Given the description of an element on the screen output the (x, y) to click on. 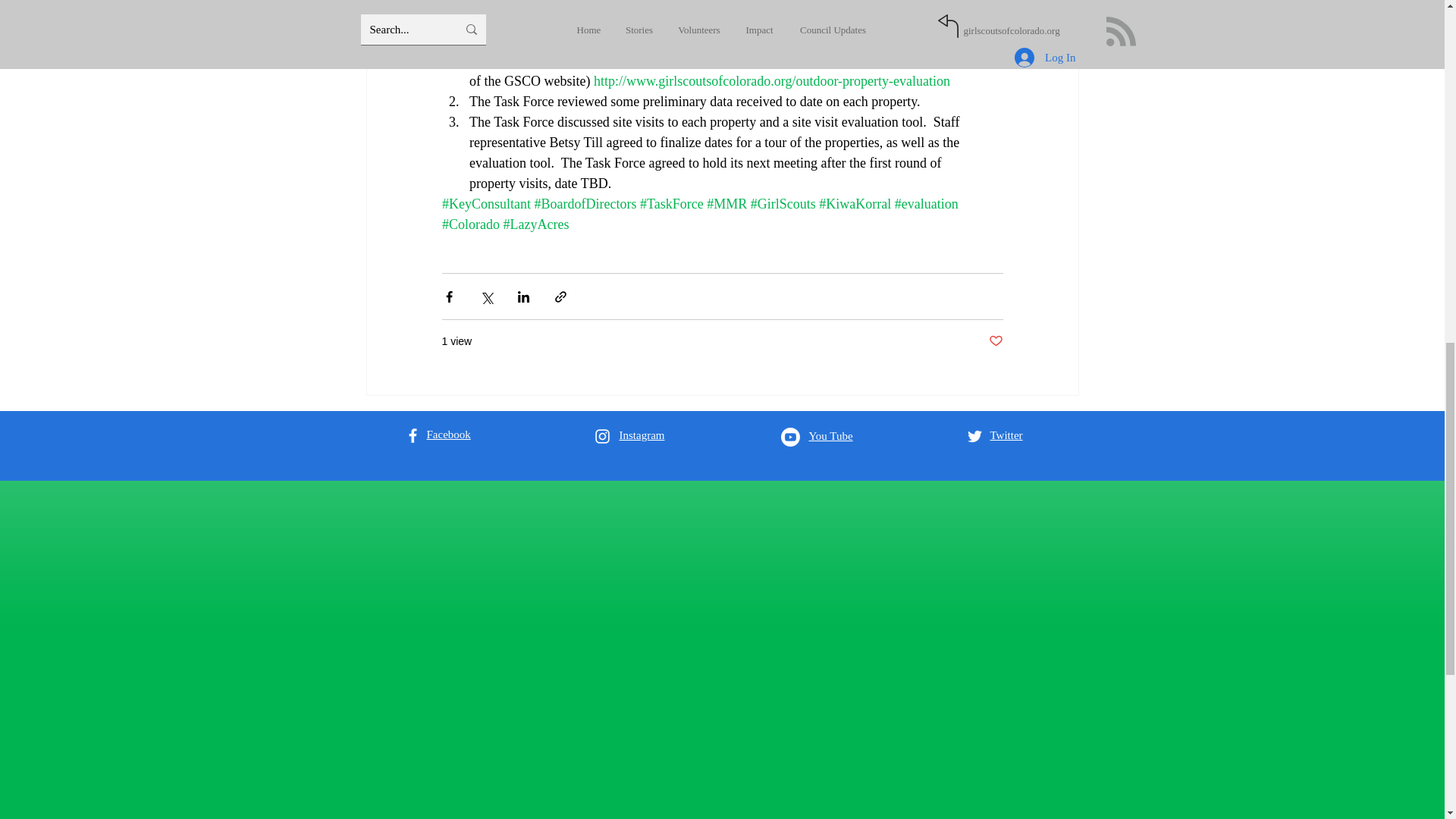
Facebook (448, 434)
Post not marked as liked (995, 341)
Instagram (640, 435)
Properties  (924, 60)
